Given the description of an element on the screen output the (x, y) to click on. 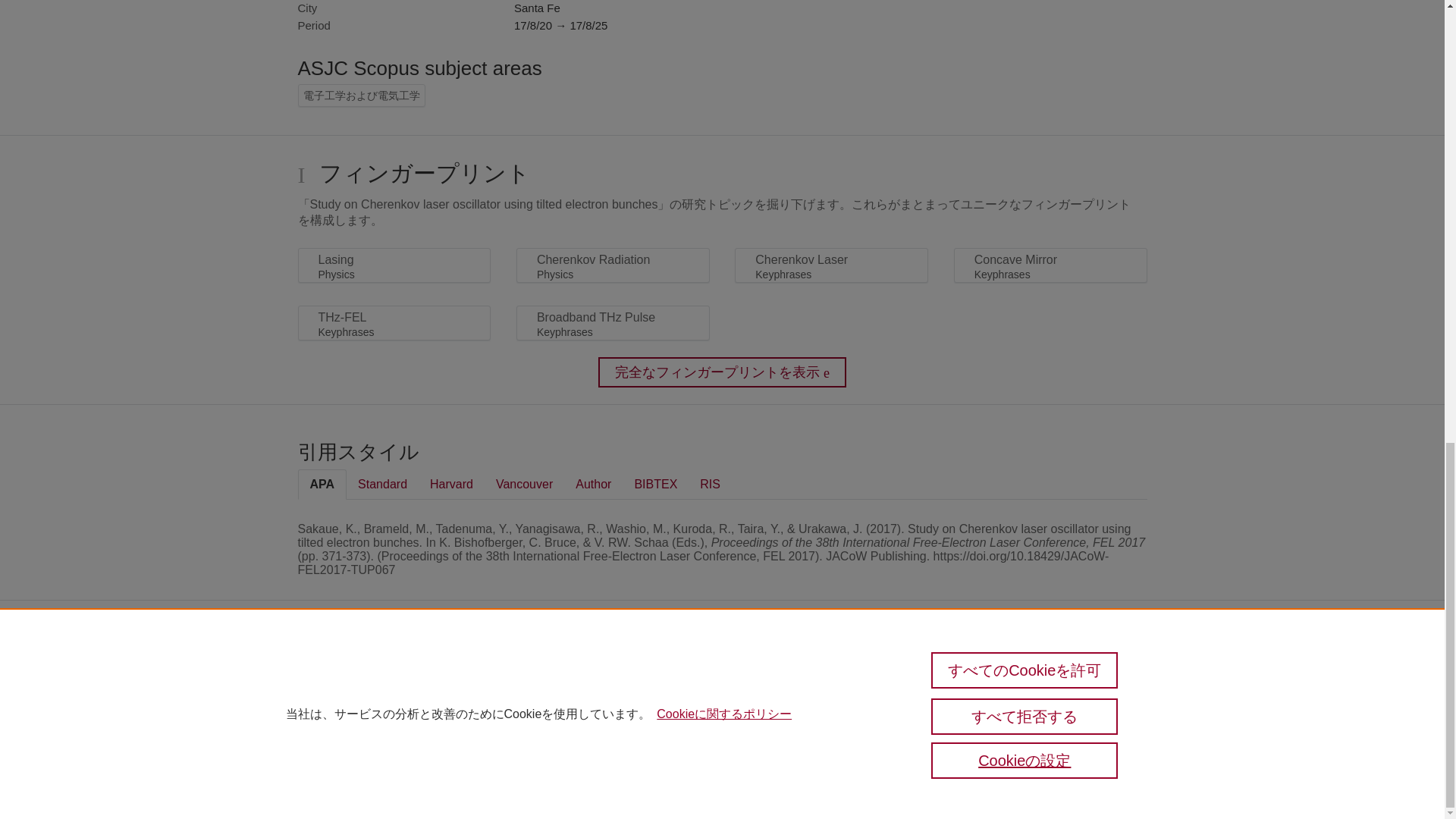
Elsevier B.V. (545, 699)
Pure (330, 676)
Scopus (362, 676)
